Given the description of an element on the screen output the (x, y) to click on. 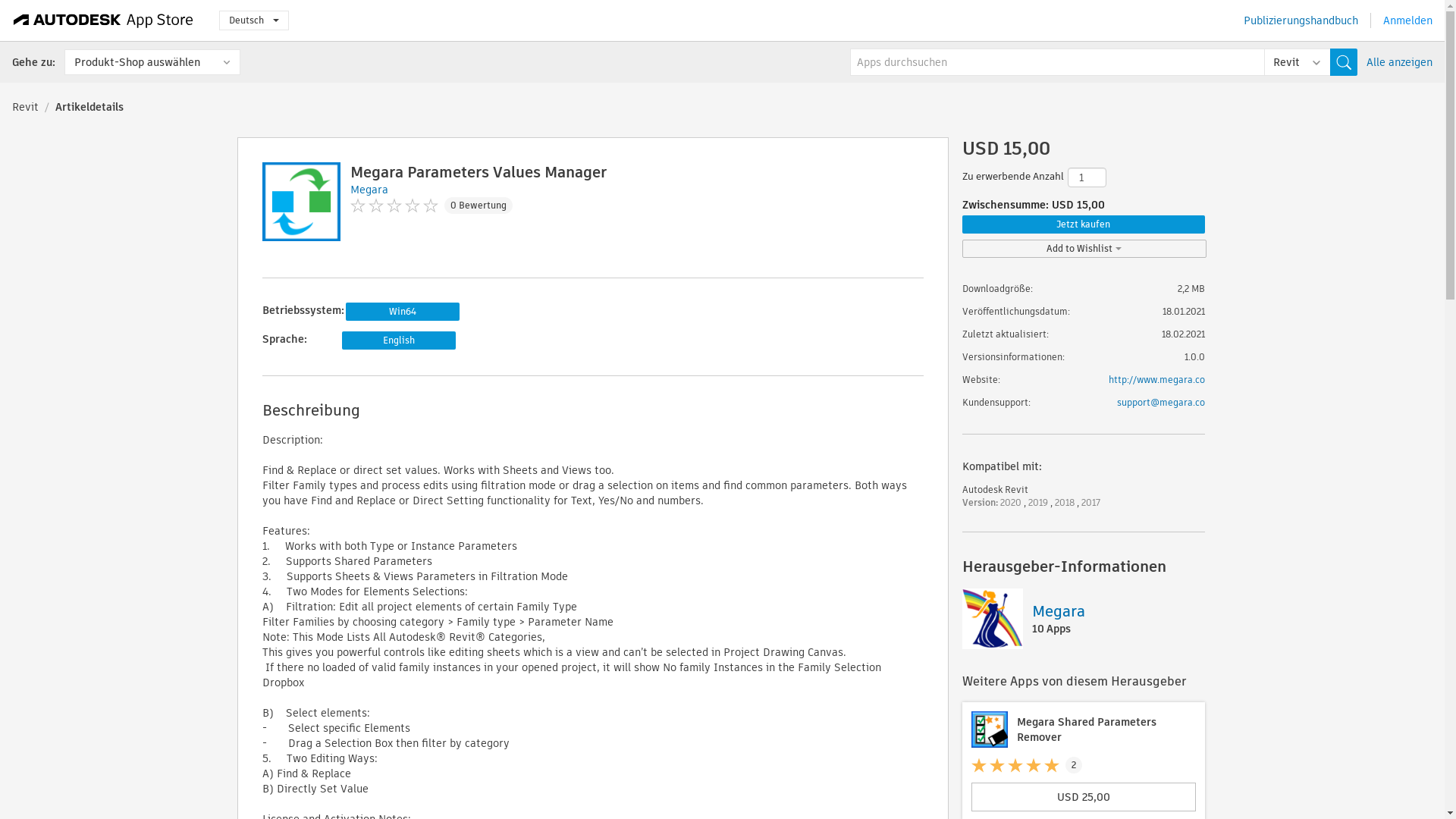
Autodesk App Store (103, 20)
Megara Parameters Values Manager (478, 171)
Deutsch (253, 20)
1 (1086, 177)
Anmelden (1407, 20)
Publizierungshandbuch (1300, 20)
